Given the description of an element on the screen output the (x, y) to click on. 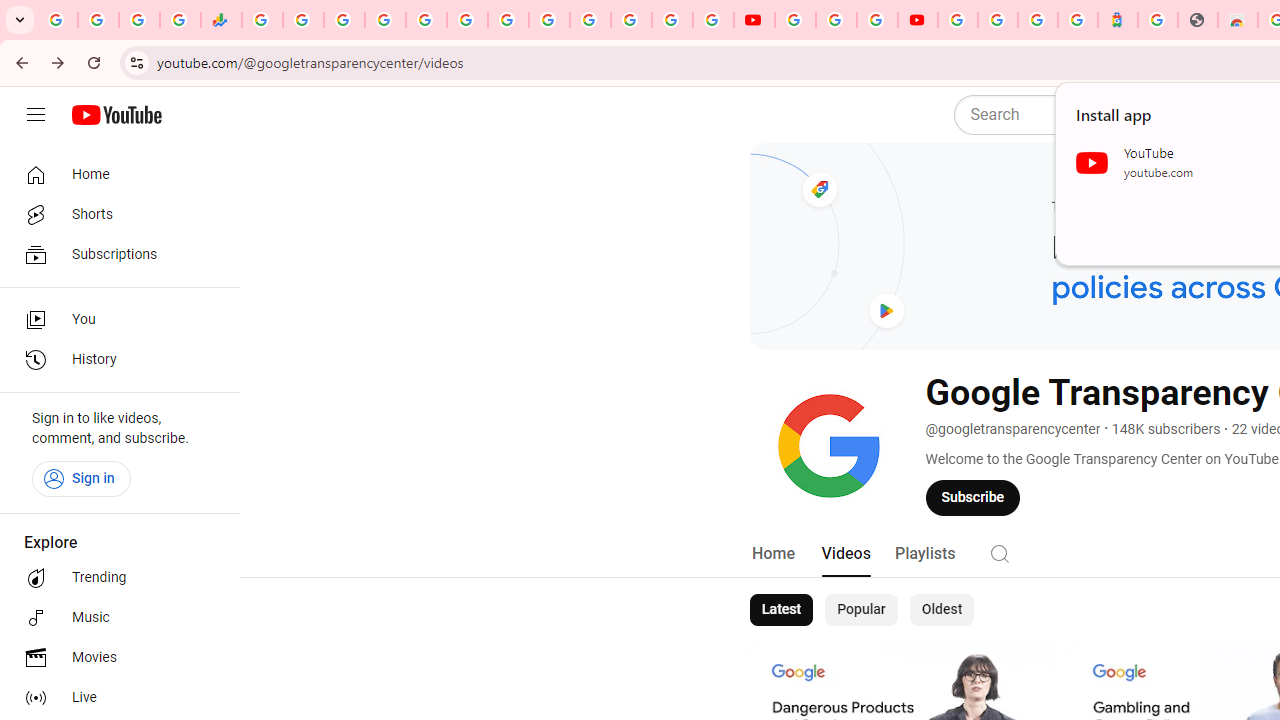
Sign in - Google Accounts (384, 20)
Movies (113, 657)
Home (772, 553)
